Given the description of an element on the screen output the (x, y) to click on. 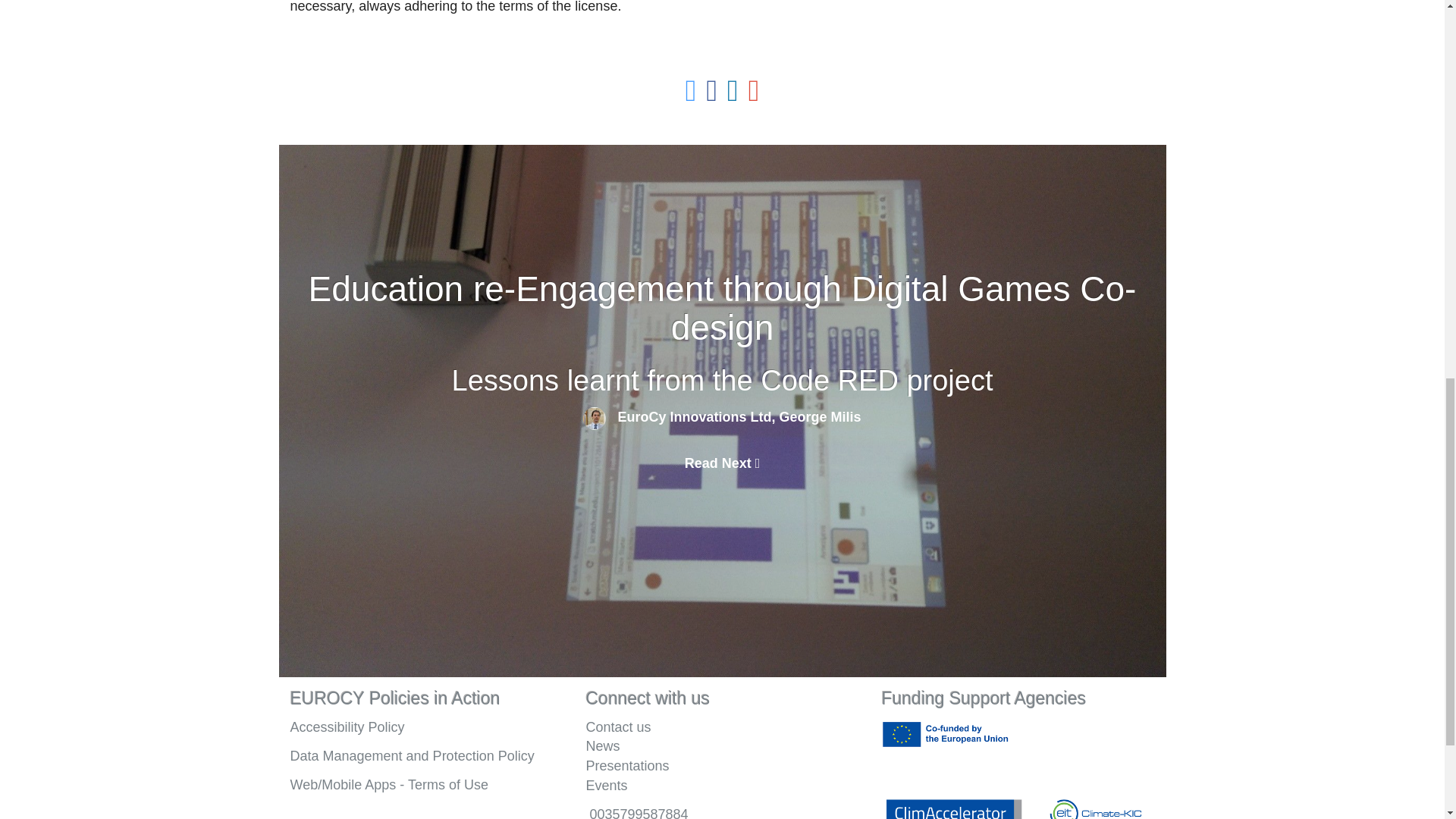
News (722, 746)
Events (606, 785)
Contact us (722, 727)
Presentations (722, 766)
Data Management and Protection Policy (411, 755)
Accessibility Policy (346, 726)
